Given the description of an element on the screen output the (x, y) to click on. 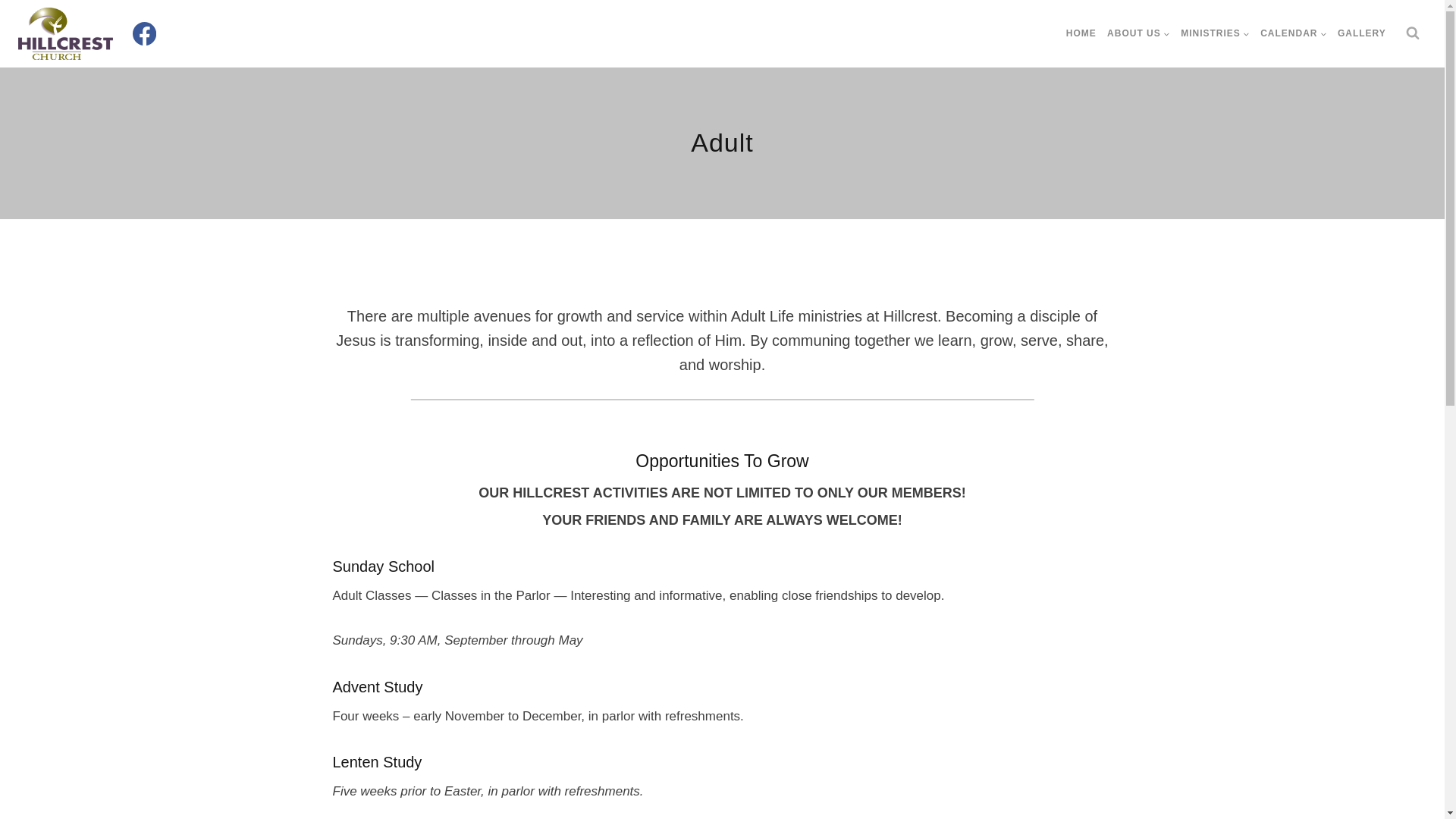
CALENDAR (1293, 33)
MINISTRIES (1214, 33)
GALLERY (1361, 33)
HOME (1081, 33)
ABOUT US (1138, 33)
